Given the description of an element on the screen output the (x, y) to click on. 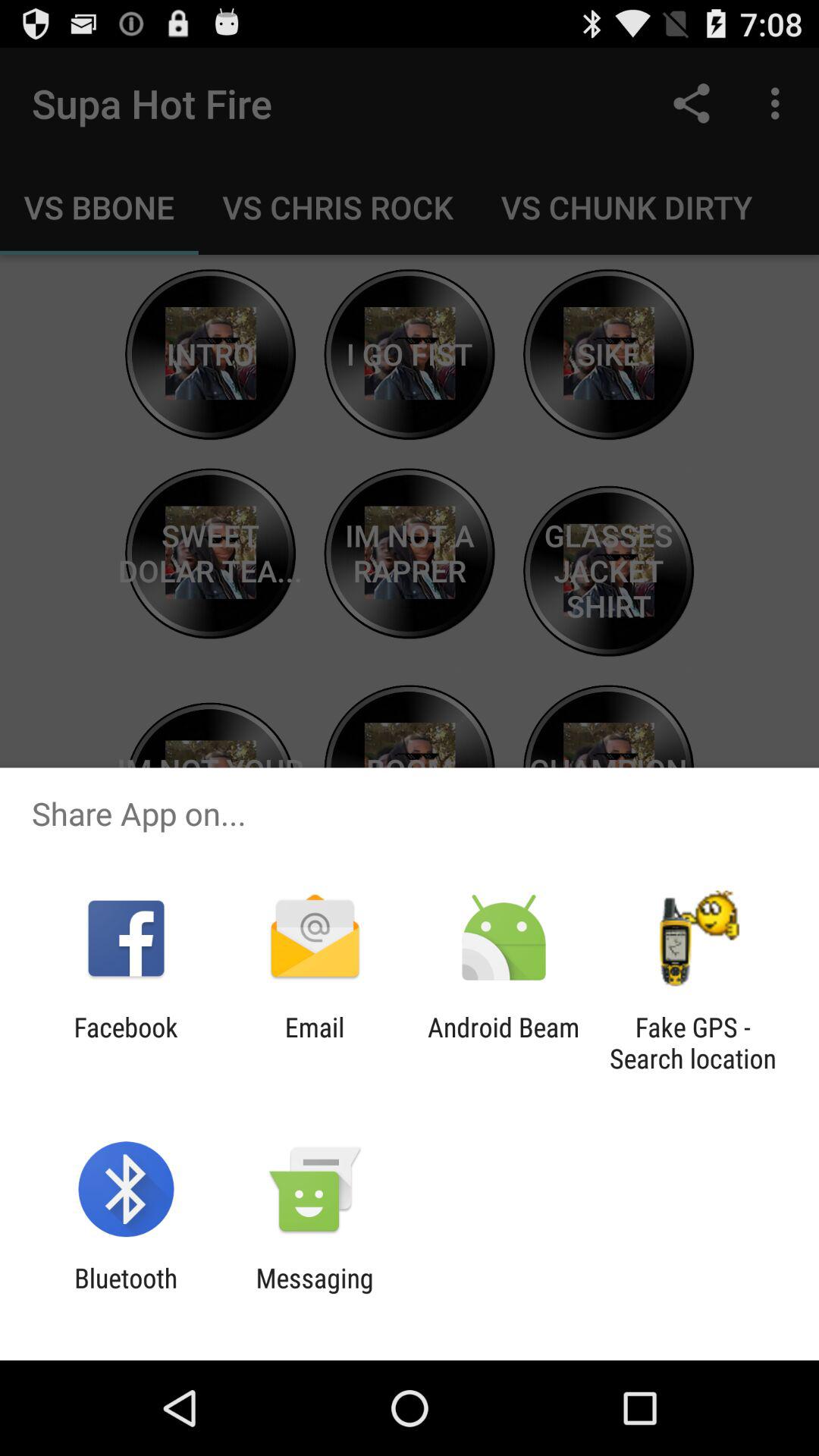
press app to the right of the bluetooth item (314, 1293)
